Given the description of an element on the screen output the (x, y) to click on. 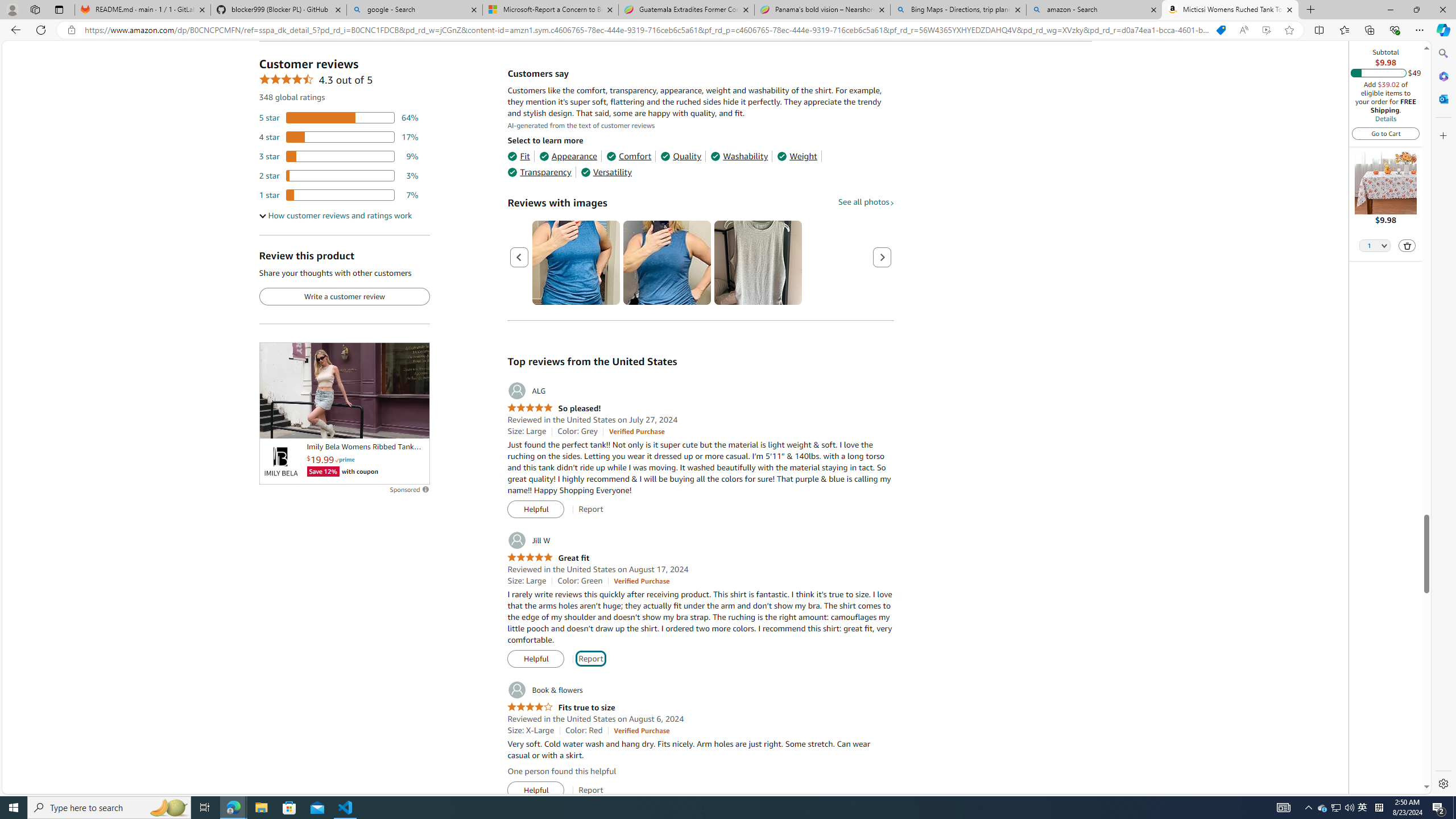
3 percent of reviews have 2 stars (339, 175)
17 percent of reviews have 4 stars (339, 137)
Side bar (1443, 418)
7 percent of reviews have 1 stars (339, 195)
9 percent of reviews have 3 stars (339, 156)
Washability (739, 156)
Helpful (536, 790)
5.0 out of 5 stars So pleased! (553, 408)
Class: a-carousel-card (757, 262)
Appearance (568, 156)
Verified Purchase (640, 730)
